Given the description of an element on the screen output the (x, y) to click on. 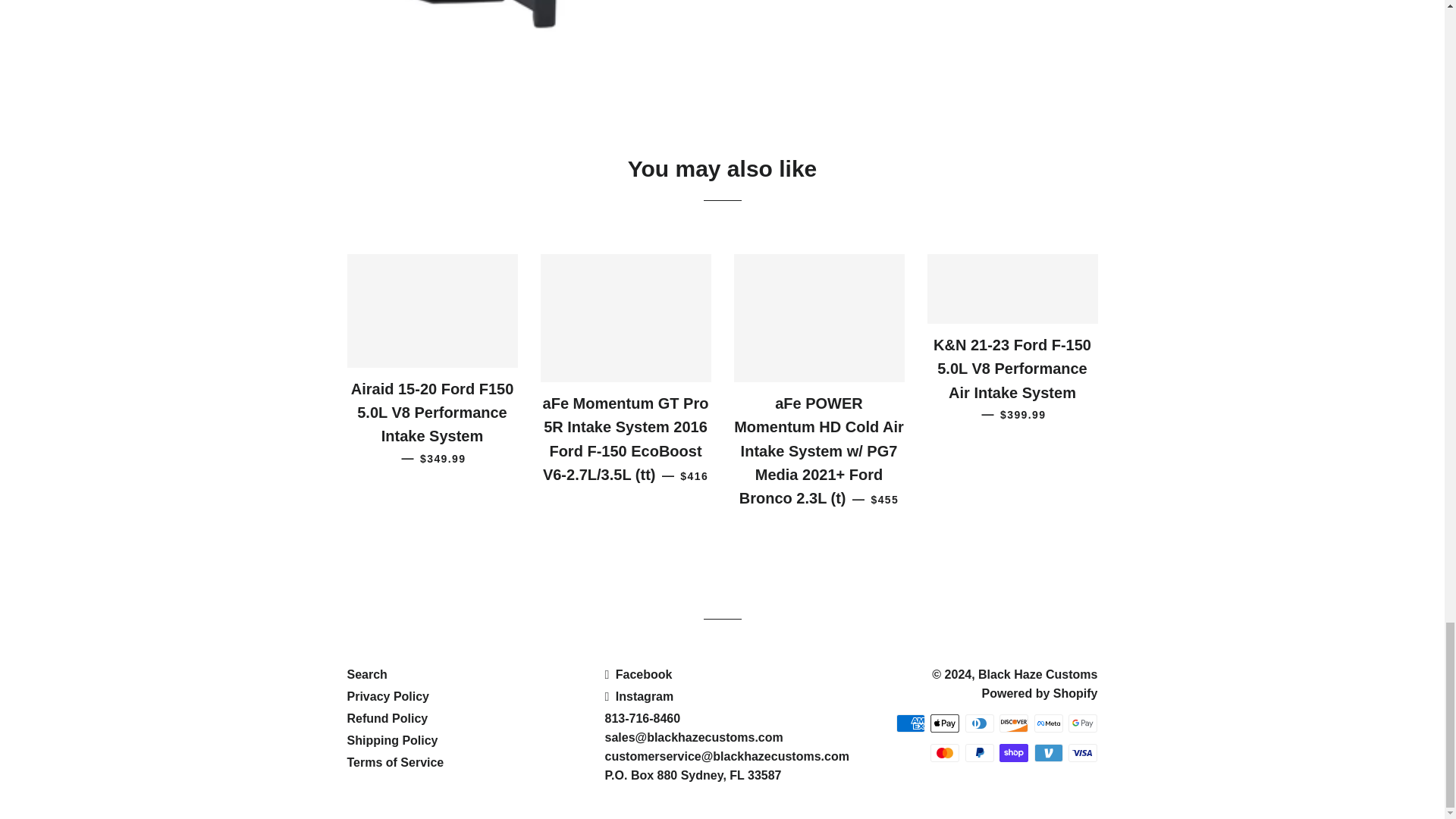
PayPal (979, 752)
Shop Pay (1012, 752)
Google Pay (1082, 723)
Diners Club (979, 723)
Black Haze Customs on Facebook (637, 674)
Visa (1082, 752)
Apple Pay (944, 723)
Discover (1012, 723)
Venmo (1047, 752)
Meta Pay (1047, 723)
